Given the description of an element on the screen output the (x, y) to click on. 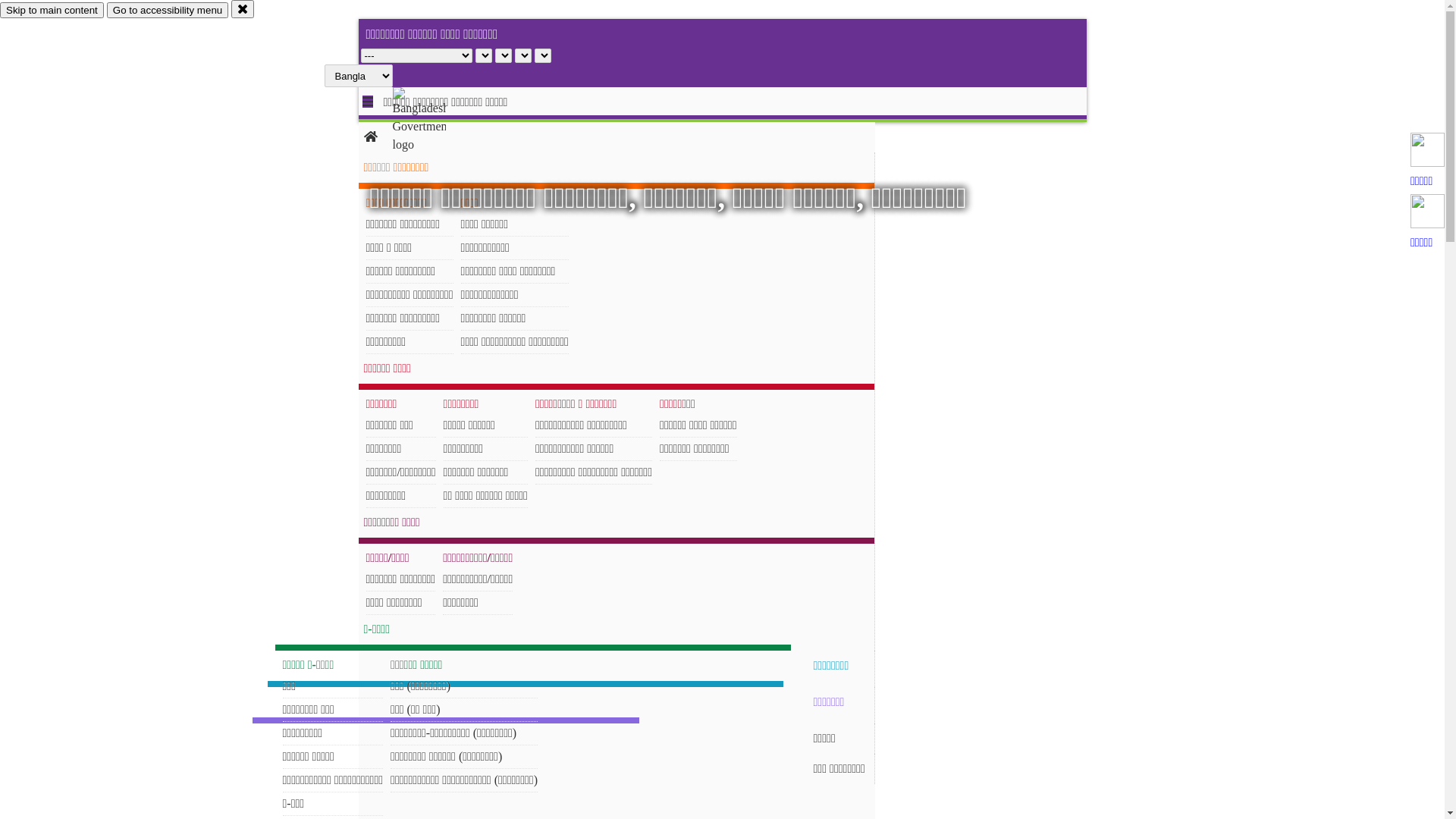
close Element type: hover (242, 9)

                
             Element type: hover (431, 120)
Go to accessibility menu Element type: text (167, 10)
Skip to main content Element type: text (51, 10)
